Given the description of an element on the screen output the (x, y) to click on. 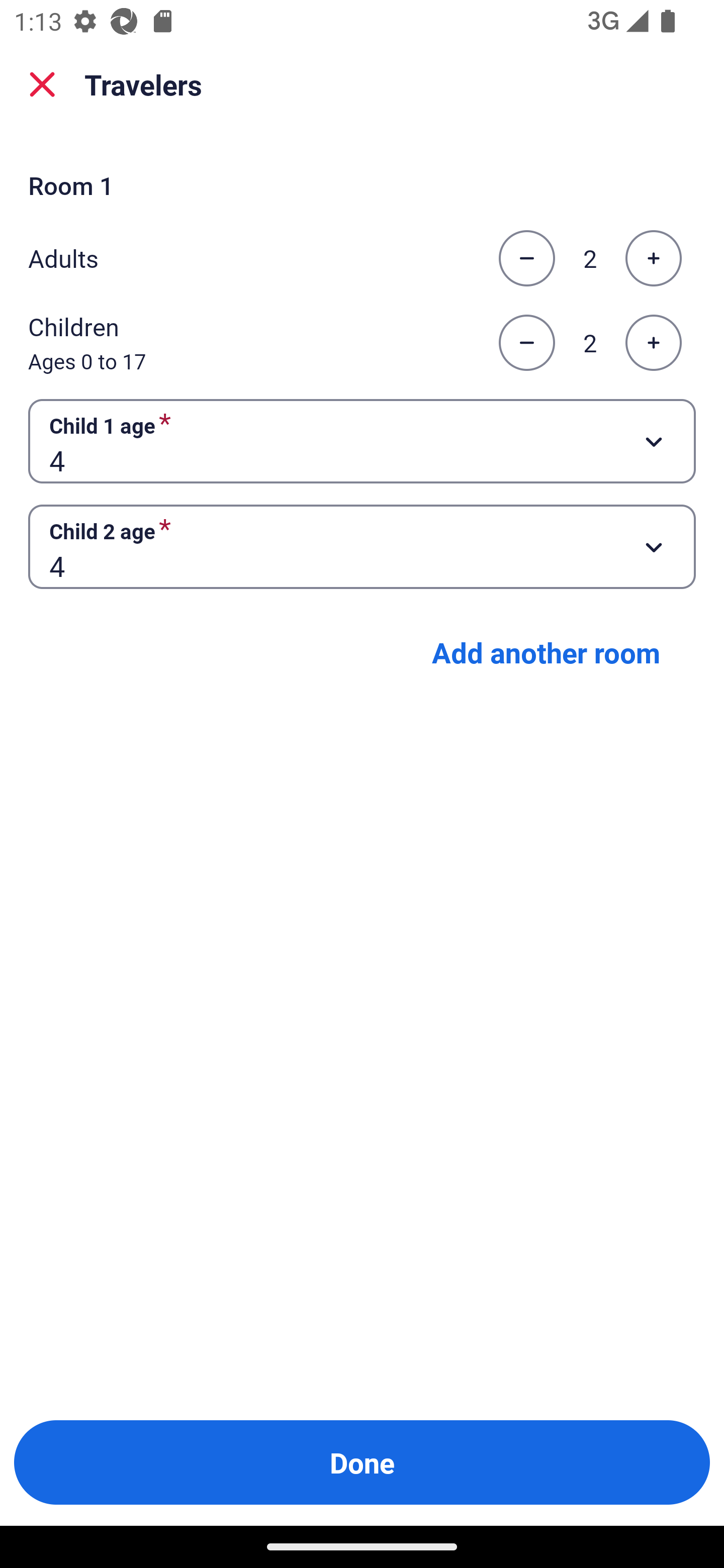
close (42, 84)
Decrease the number of adults (526, 258)
Increase the number of adults (653, 258)
Decrease the number of children (526, 343)
Increase the number of children (653, 343)
Child 1 age required Button 4 (361, 440)
Child 2 age required Button 4 (361, 546)
Add another room (545, 651)
Done (361, 1462)
